Given the description of an element on the screen output the (x, y) to click on. 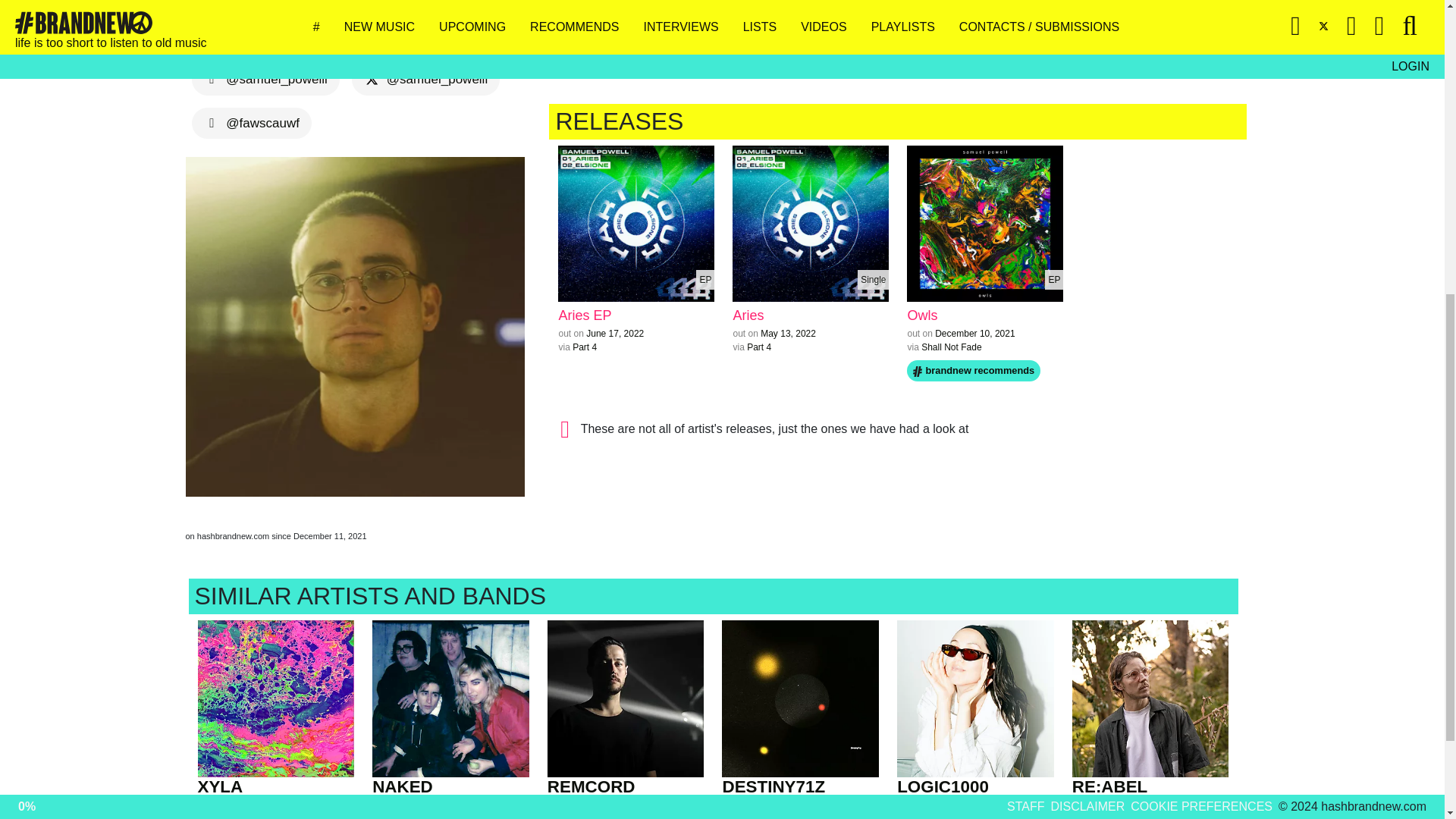
Bandcamp (343, 35)
Spotify (234, 35)
